Given the description of an element on the screen output the (x, y) to click on. 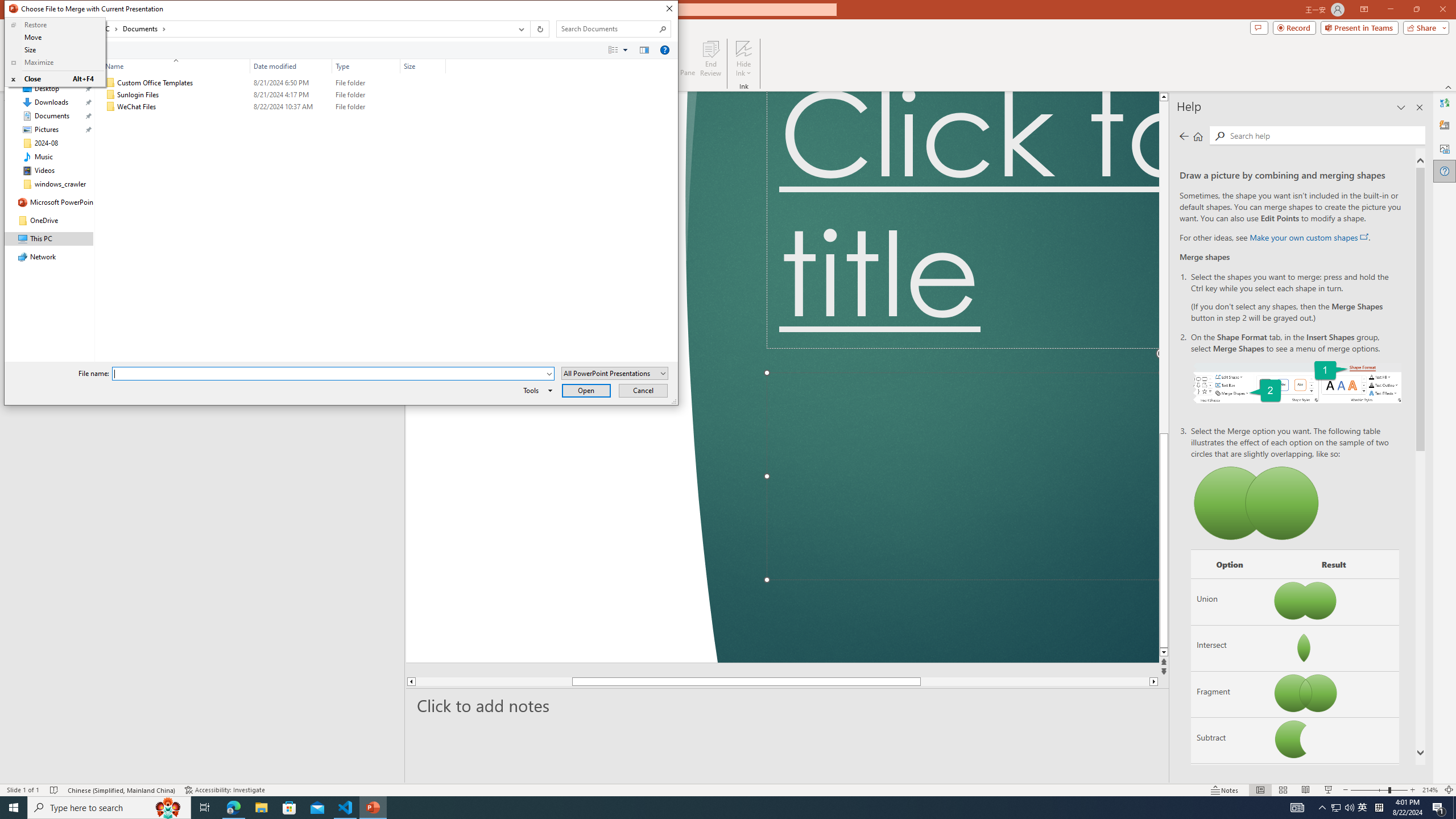
Title TextBox (962, 219)
Views (620, 49)
Subtitle TextBox (962, 476)
Address: Documents (288, 28)
End Review (710, 58)
&Help (664, 49)
openinnewwindow (1363, 237)
File Explorer (261, 807)
Close pane (1419, 107)
